Given the description of an element on the screen output the (x, y) to click on. 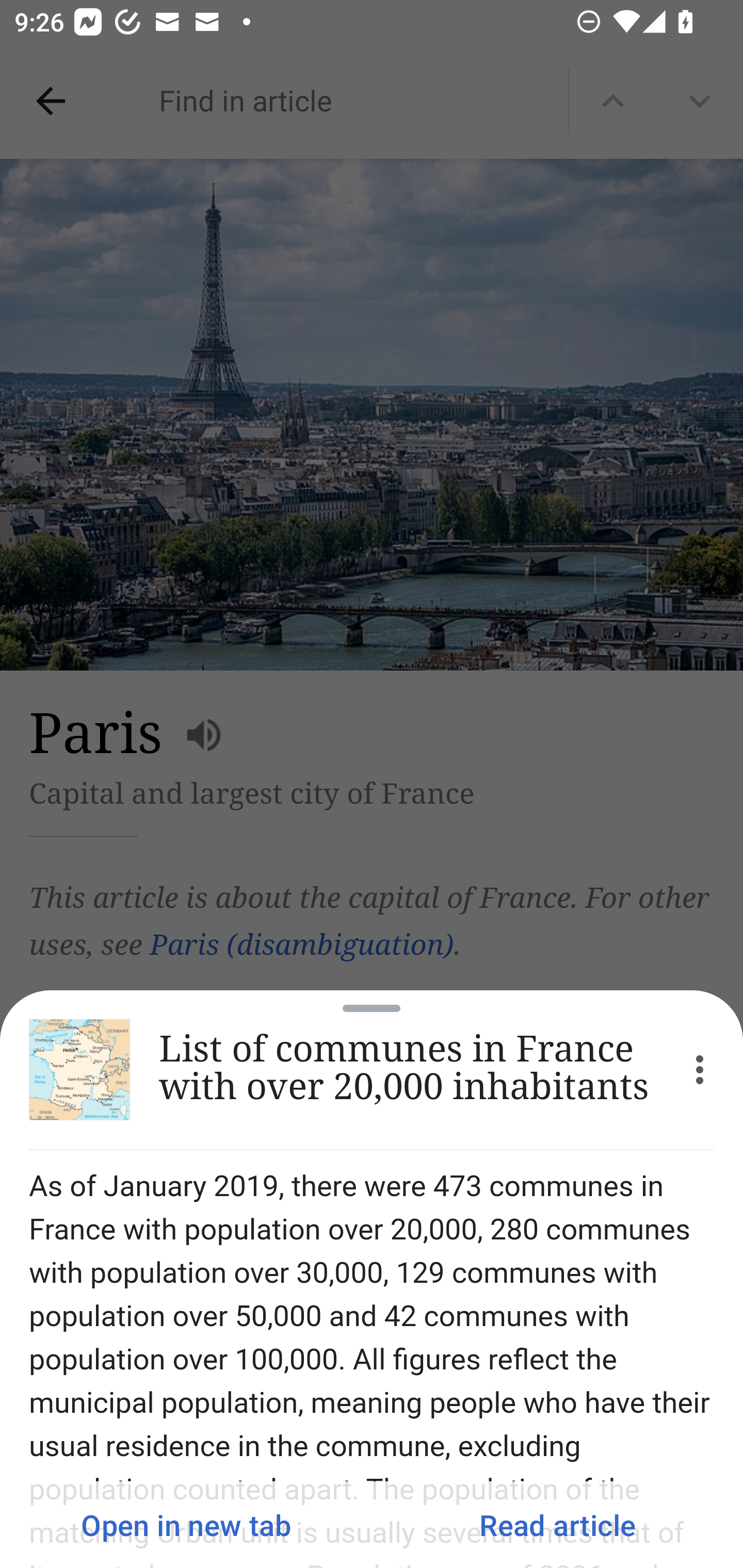
More options (699, 1070)
Open in new tab (185, 1524)
Read article (557, 1524)
